Given the description of an element on the screen output the (x, y) to click on. 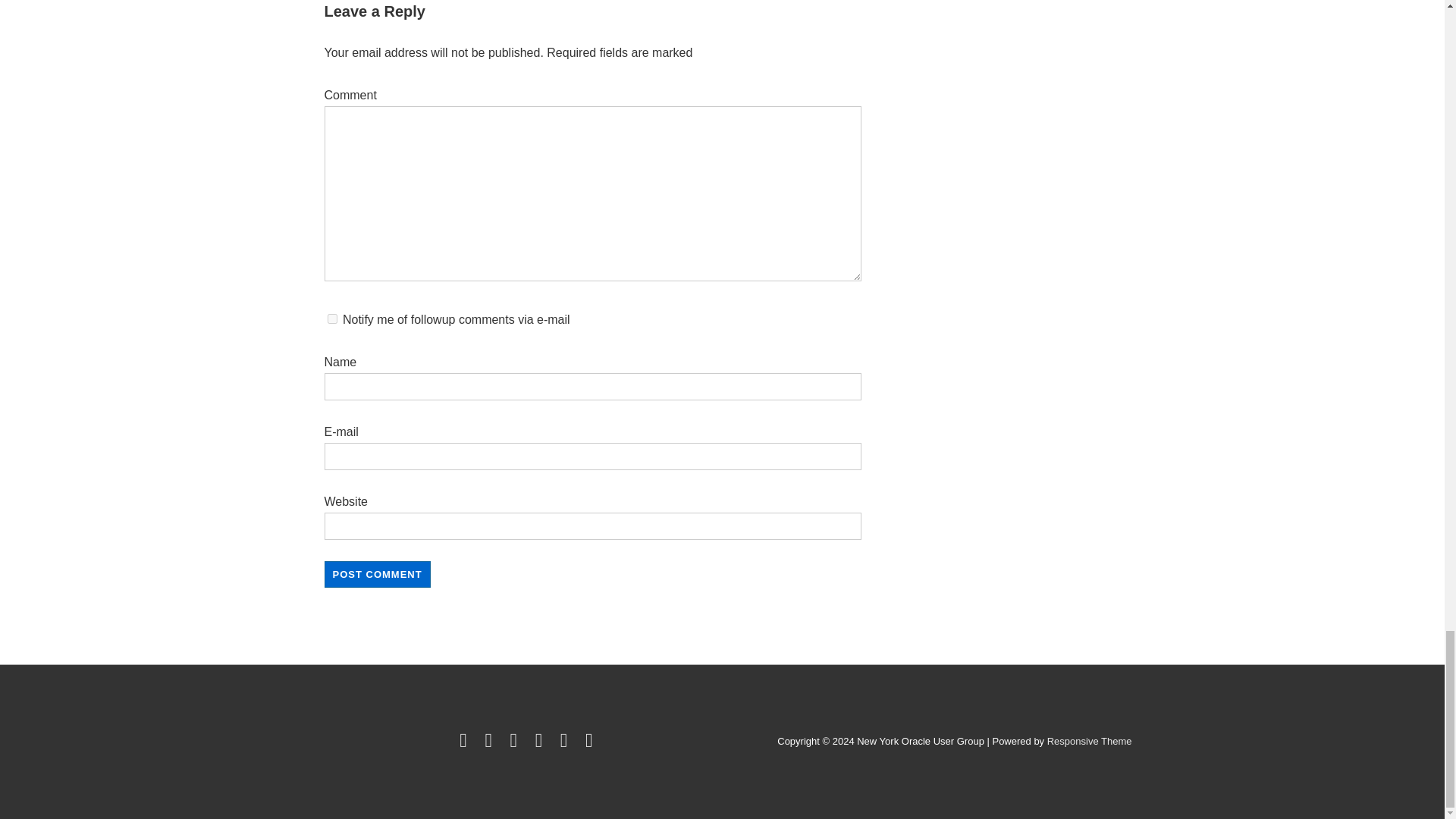
Post Comment (377, 574)
subscribe (332, 318)
